Given the description of an element on the screen output the (x, y) to click on. 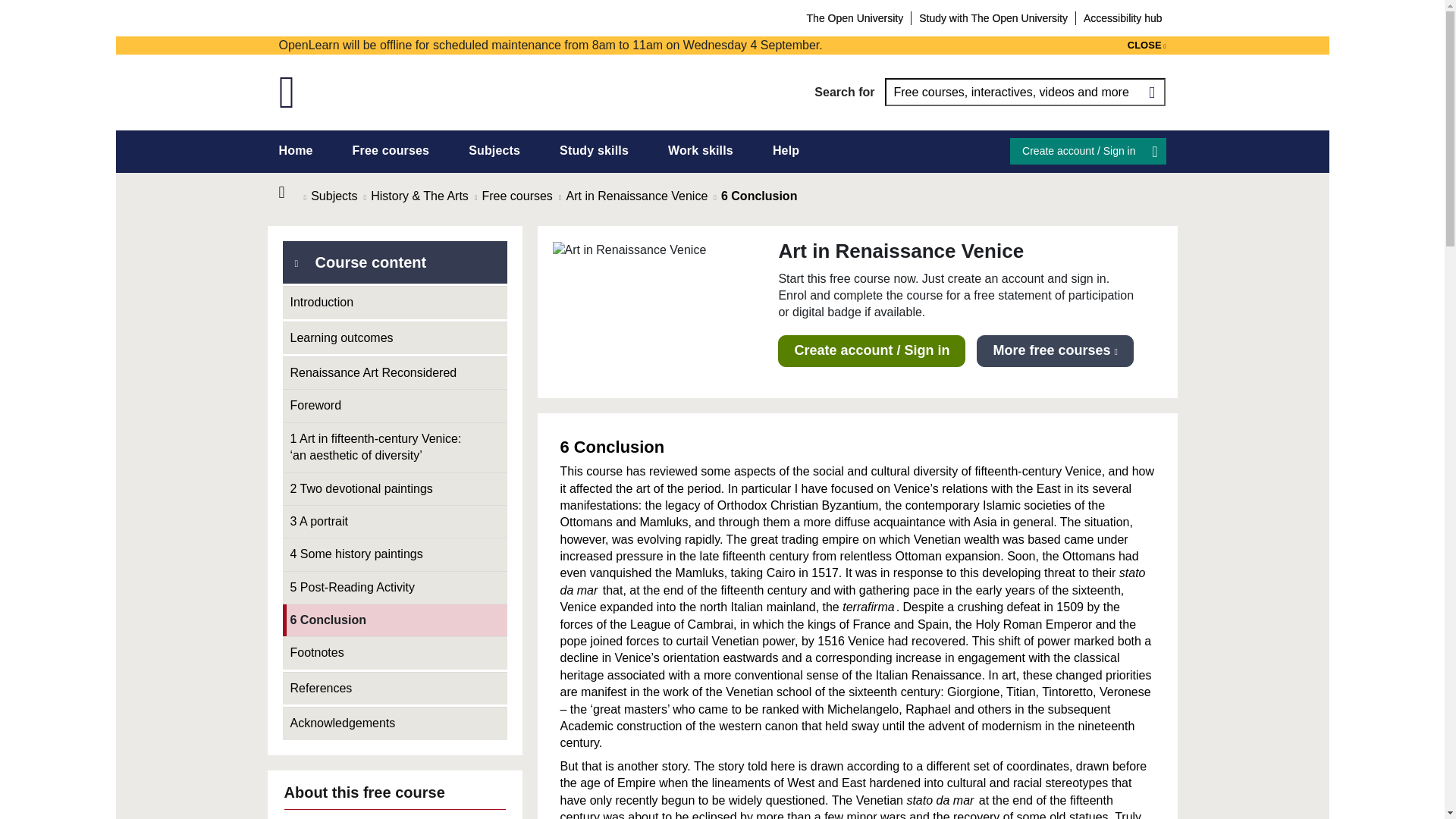
The Open University (855, 17)
Work skills (700, 150)
Home (291, 193)
Subjects (493, 150)
Accessibility hub (1123, 17)
Study skills (593, 150)
CLOSE (1146, 45)
Study with The Open University (993, 17)
Free courses (390, 150)
Help (786, 150)
